Given the description of an element on the screen output the (x, y) to click on. 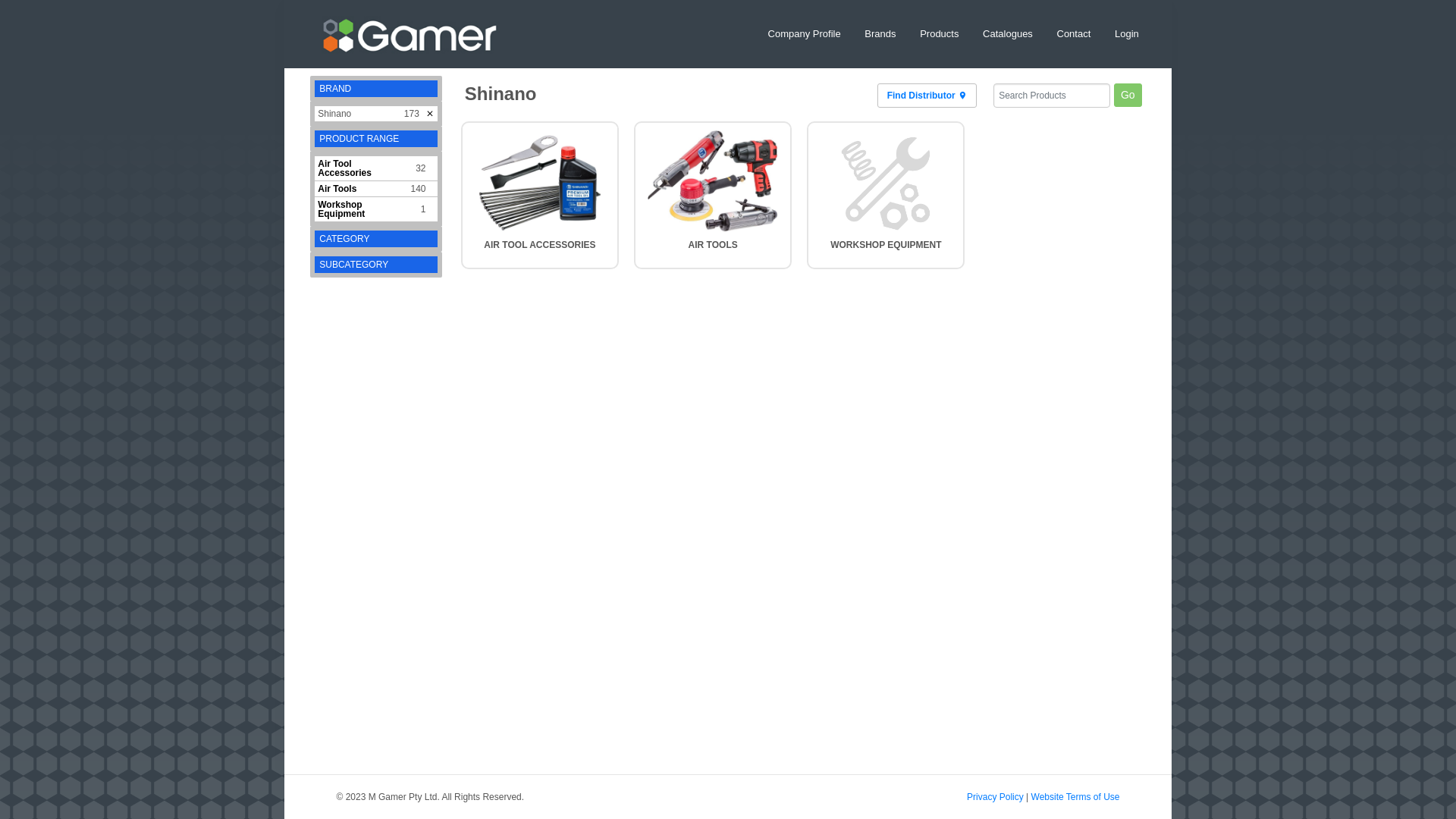
PRODUCT RANGE Element type: text (358, 138)
Login Element type: text (1126, 34)
Products Element type: text (939, 34)
Brands Element type: text (879, 34)
Go Element type: text (1127, 94)
Contact Element type: text (1073, 34)
Privacy Policy Element type: text (994, 796)
Find Distributor Element type: text (926, 95)
BRAND Element type: text (335, 88)
CATEGORY Element type: text (344, 238)
SUBCATEGORY Element type: text (353, 264)
Air Tools Element type: text (336, 188)
Workshop Equipment Element type: text (340, 209)
Catalogues Element type: text (1007, 34)
Air Tool Accessories Element type: text (344, 168)
Website Terms of Use Element type: text (1075, 796)
Company Profile Element type: text (804, 34)
